Given the description of an element on the screen output the (x, y) to click on. 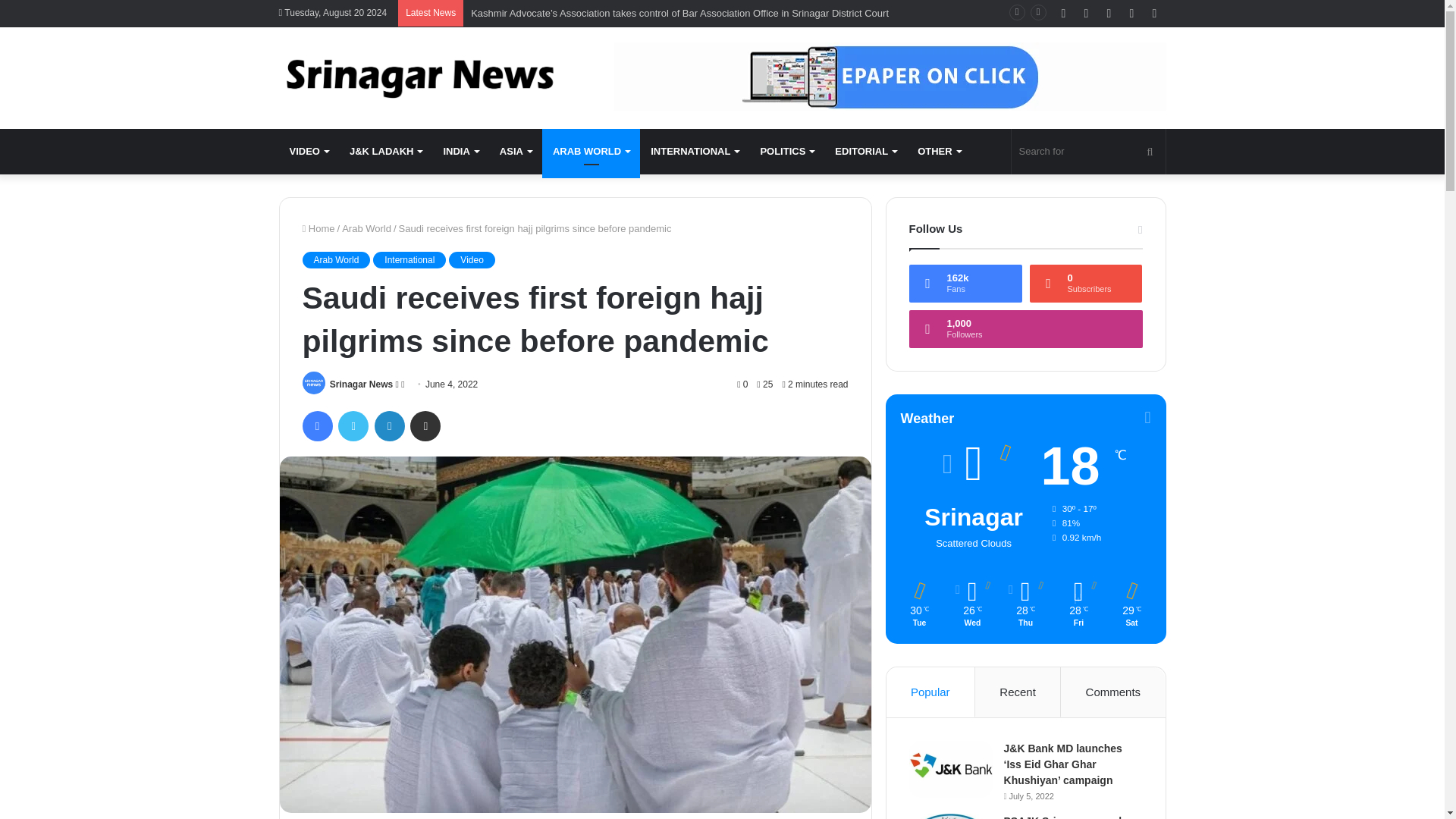
ARAB WORLD (590, 151)
EDITORIAL (865, 151)
LinkedIn (389, 426)
ASIA (515, 151)
Twitter (352, 426)
Search for (1088, 151)
INDIA (459, 151)
Srinagar News (419, 77)
Srinagar News (361, 384)
Arab World (366, 228)
